Given the description of an element on the screen output the (x, y) to click on. 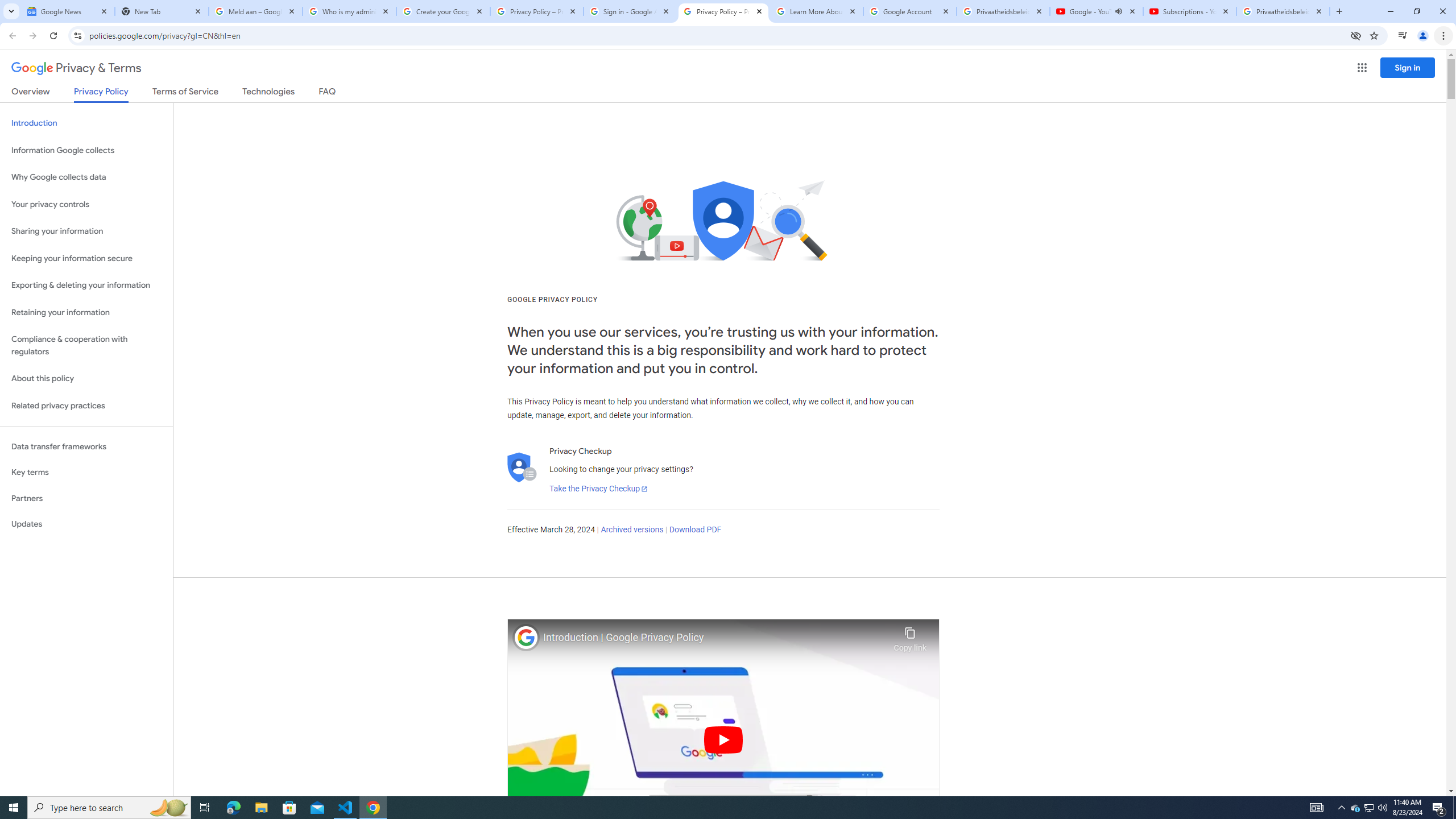
Sign in - Google Accounts (629, 11)
Create your Google Account (443, 11)
Who is my administrator? - Google Account Help (349, 11)
Related privacy practices (86, 405)
